Given the description of an element on the screen output the (x, y) to click on. 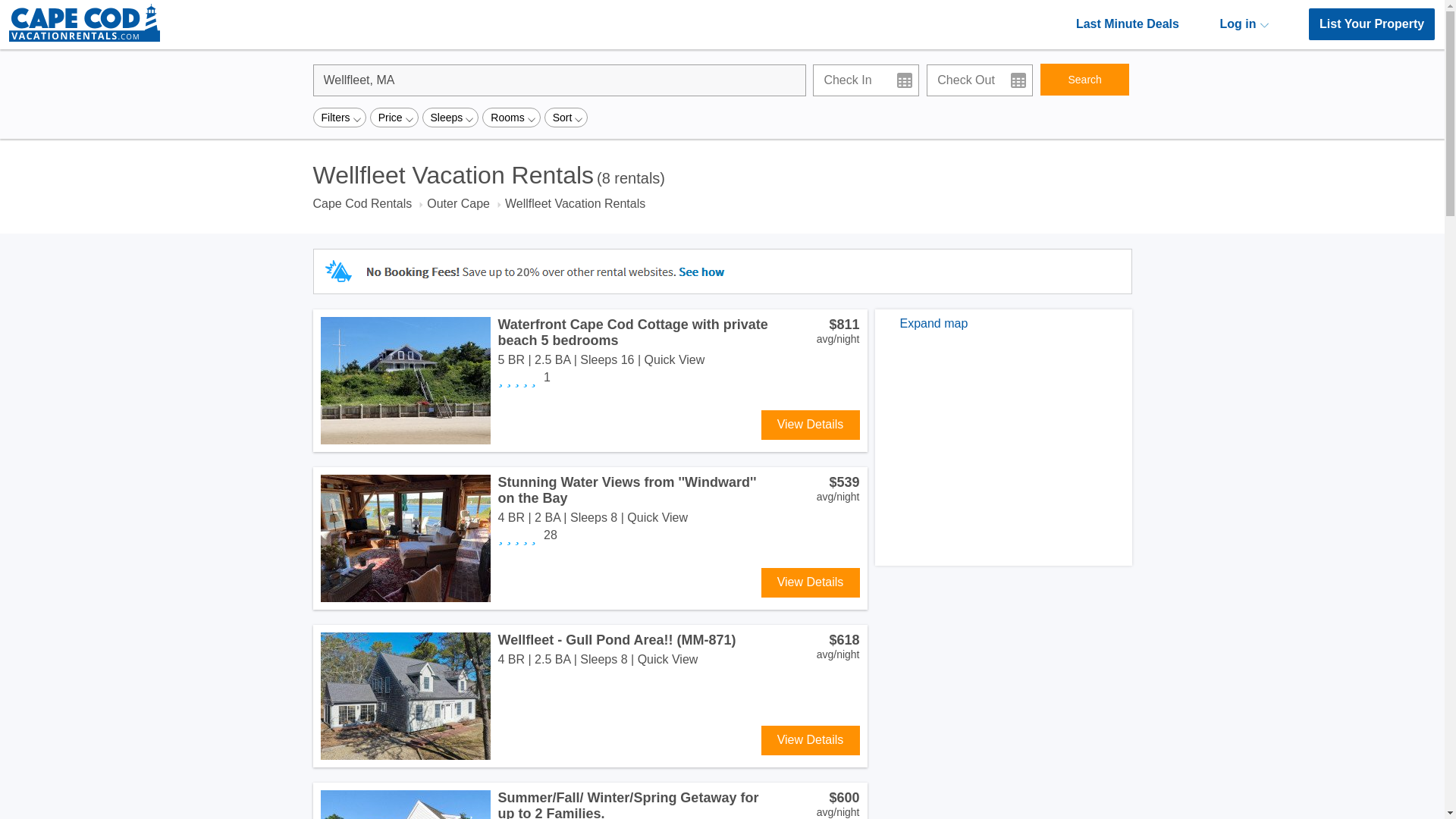
Waterfront Cape Cod Cottage with private beach 5 bedrooms (632, 332)
Search (1085, 79)
Quick View (657, 517)
List Your Property (1371, 24)
Cape Cod Vacation Rentals (84, 37)
View Details (810, 740)
Stunning Water Views from ''Windward'' on the Bay (626, 490)
Last Minute Deals (1127, 24)
Quick View (674, 359)
View Details (810, 424)
